Given the description of an element on the screen output the (x, y) to click on. 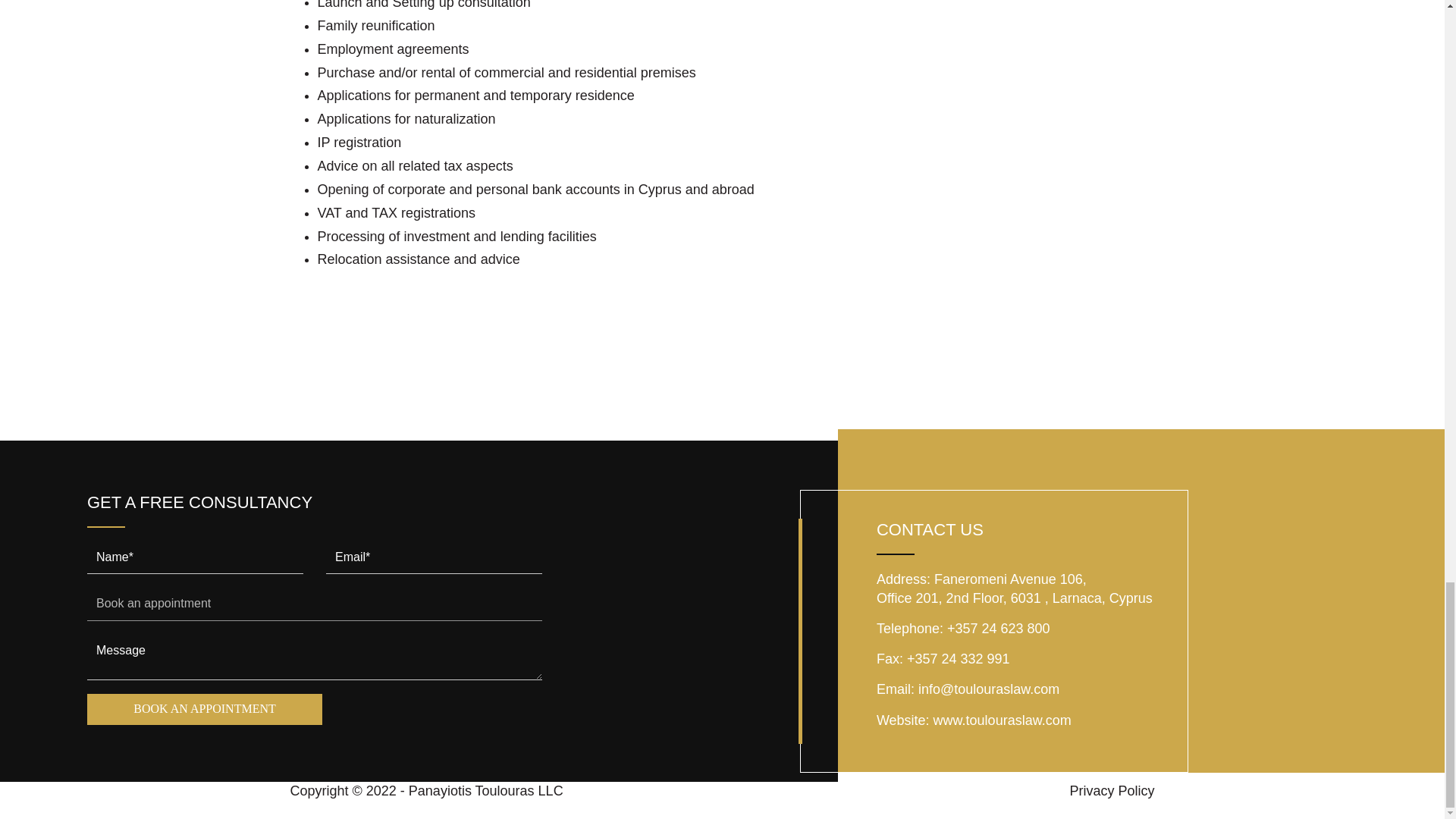
Website: www.toulouraslaw.com (973, 720)
BOOK AN APPOINTMENT (204, 708)
BOOK AN APPOINTMENT (204, 708)
Privacy Policy (1111, 790)
